Given the description of an element on the screen output the (x, y) to click on. 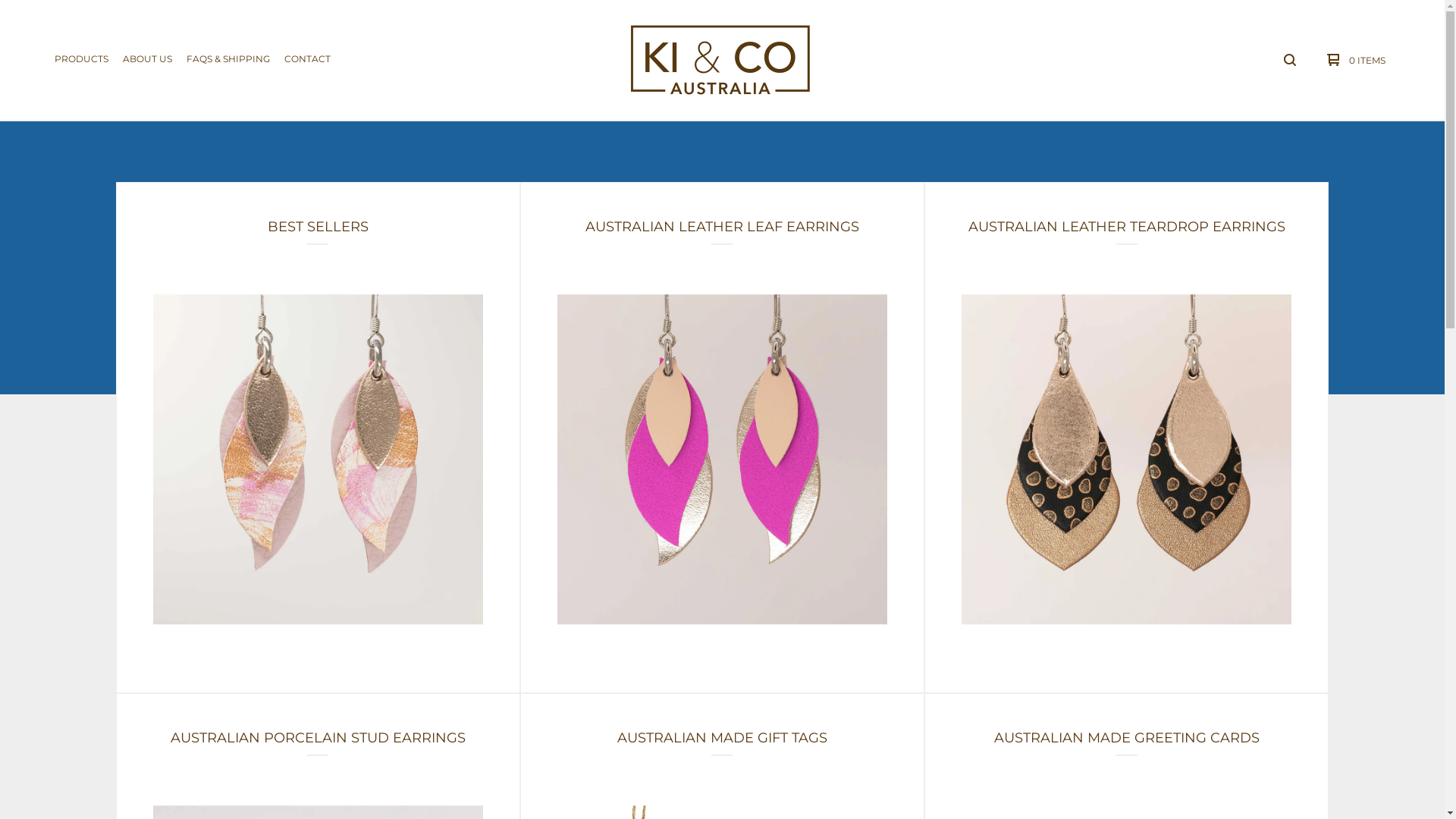
FAQS & SHIPPING Element type: text (228, 59)
PRODUCTS Element type: text (81, 59)
CONTACT Element type: text (307, 59)
AUSTRALIAN LEATHER LEAF EARRINGS Element type: text (721, 437)
0 ITEMS Element type: text (1352, 59)
AUSTRALIAN LEATHER TEARDROP EARRINGS Element type: text (1126, 437)
BEST SELLERS Element type: text (317, 437)
ABOUT US Element type: text (147, 59)
